Given the description of an element on the screen output the (x, y) to click on. 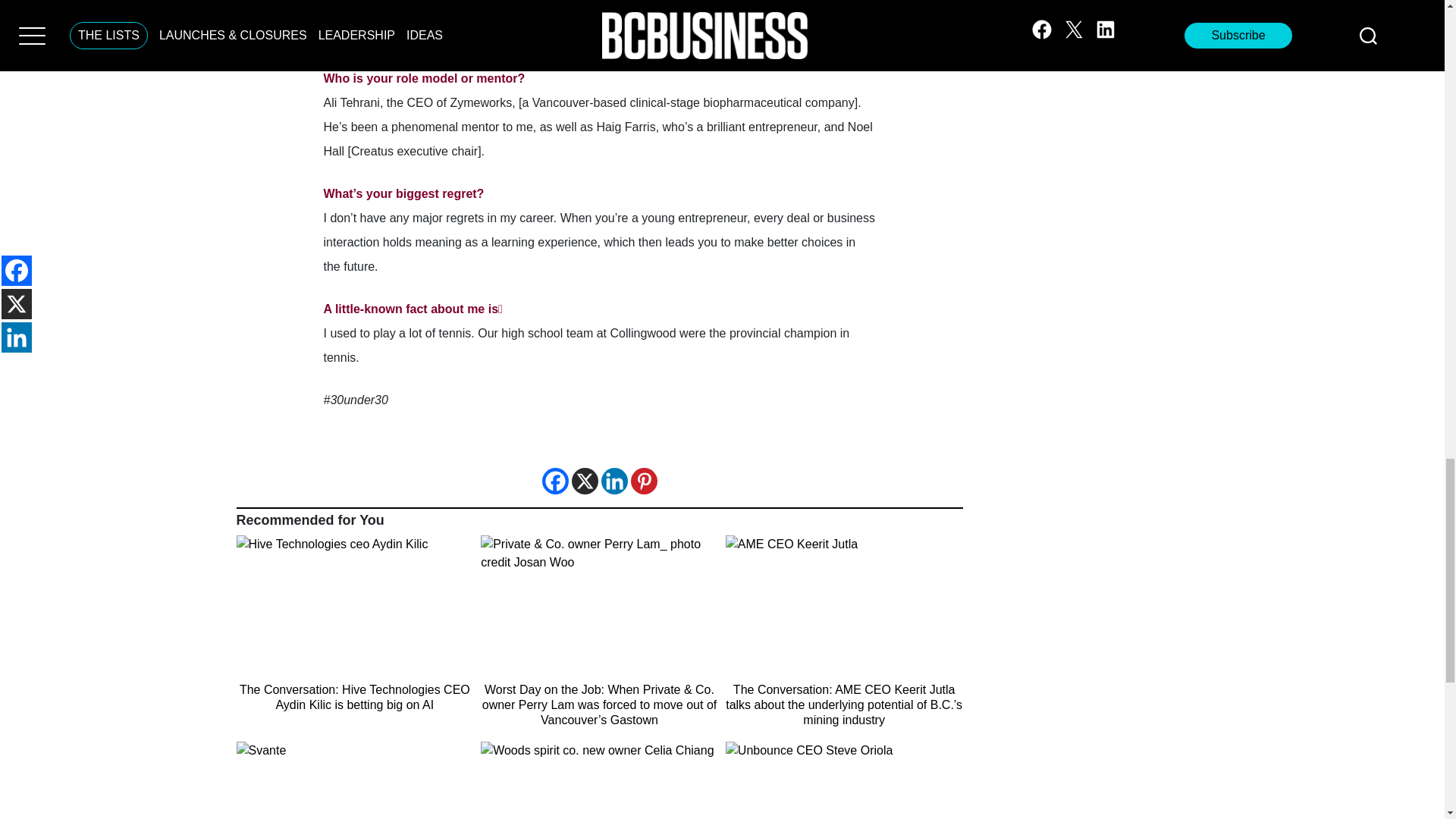
Linkedin (613, 480)
Facebook (554, 480)
Pinterest (644, 480)
X (585, 480)
